Given the description of an element on the screen output the (x, y) to click on. 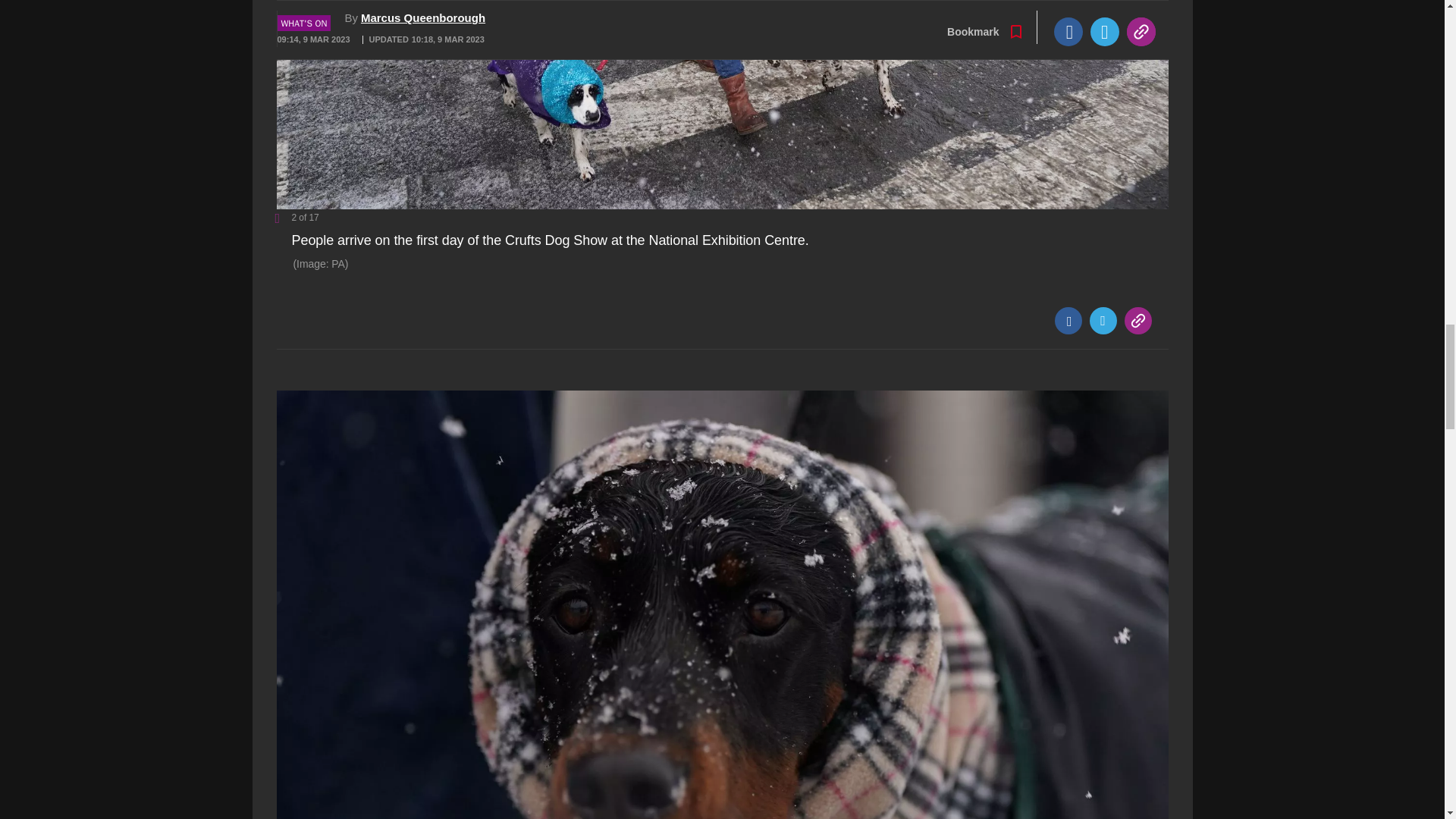
Twitter (1102, 320)
Facebook (1067, 320)
